Given the description of an element on the screen output the (x, y) to click on. 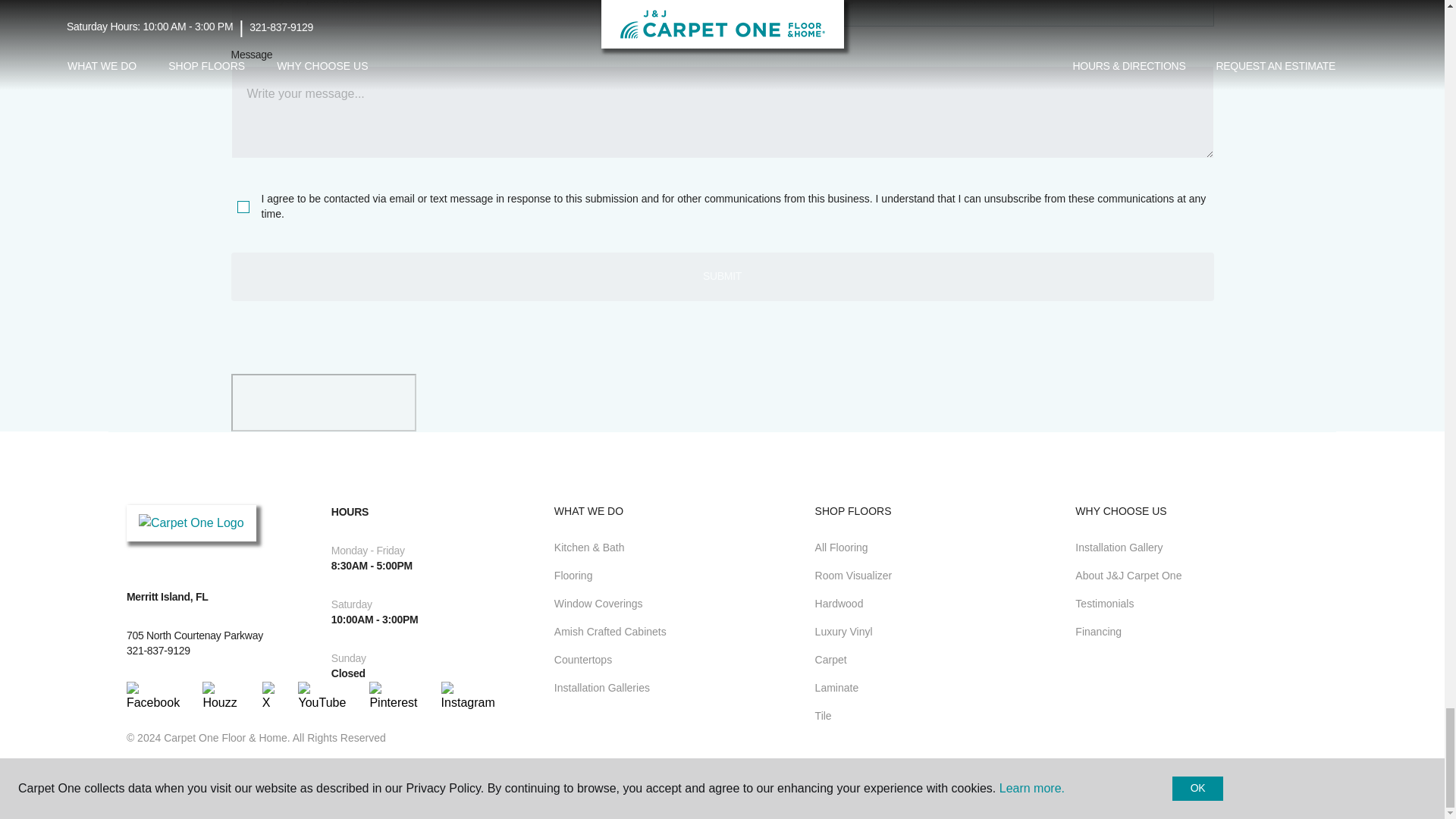
PostalCode (471, 13)
MyMessage (721, 112)
